Given the description of an element on the screen output the (x, y) to click on. 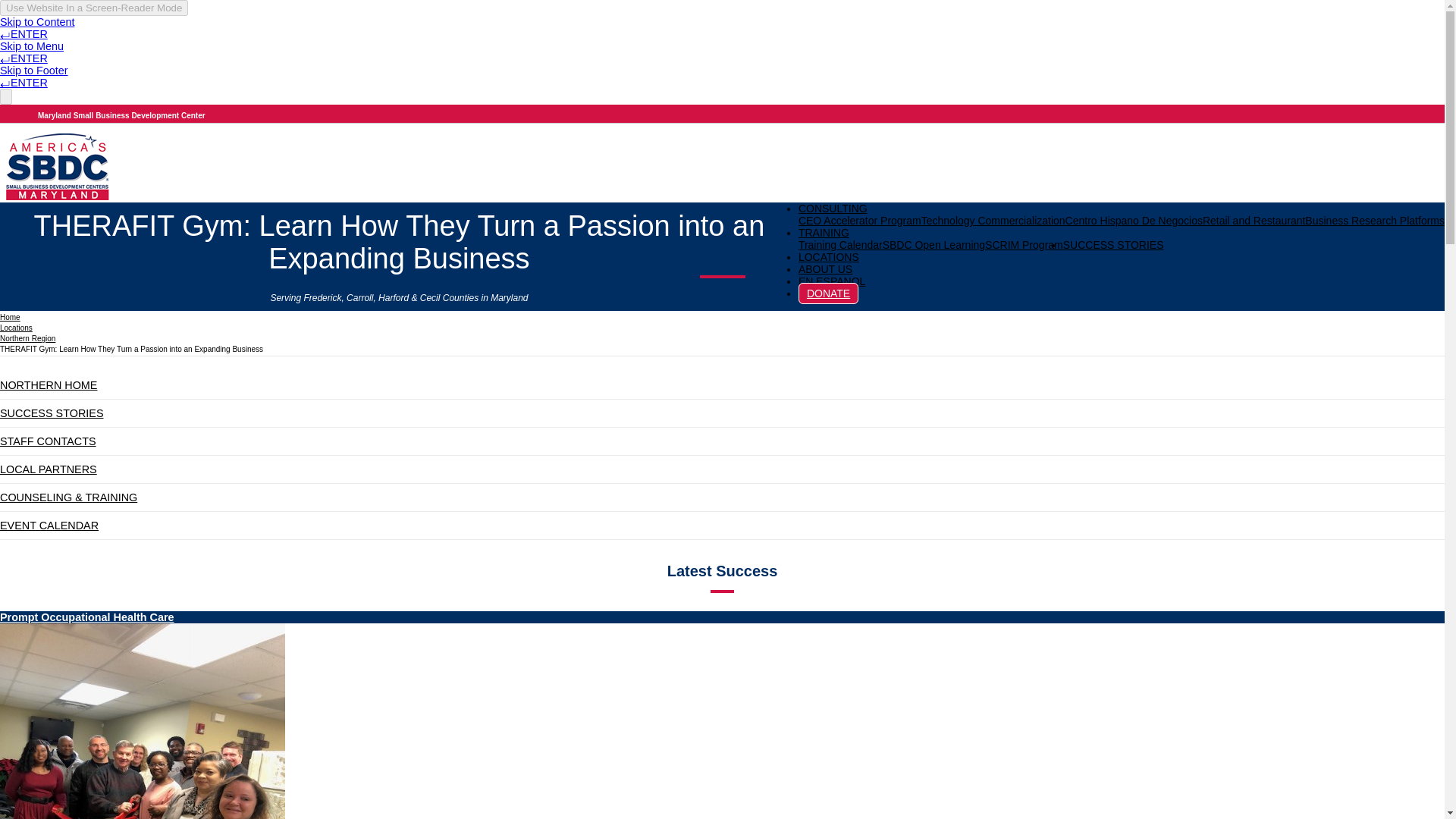
LOCATIONS (828, 256)
Training Calendar (839, 244)
SUCCESS STORIES (1112, 244)
EN ESPANOL (830, 281)
En Espanol (830, 281)
LOCAL PARTNERS (48, 469)
Centro Hispano De Negocios (1133, 220)
TRAINING (822, 232)
CEO Accelerator Program (859, 220)
ABOUT US (824, 268)
Prompt Occupational Health Care (87, 616)
Locations (16, 327)
Staff Contacts (48, 440)
STAFF CONTACTS (48, 440)
NORTHERN HOME (48, 385)
